Given the description of an element on the screen output the (x, y) to click on. 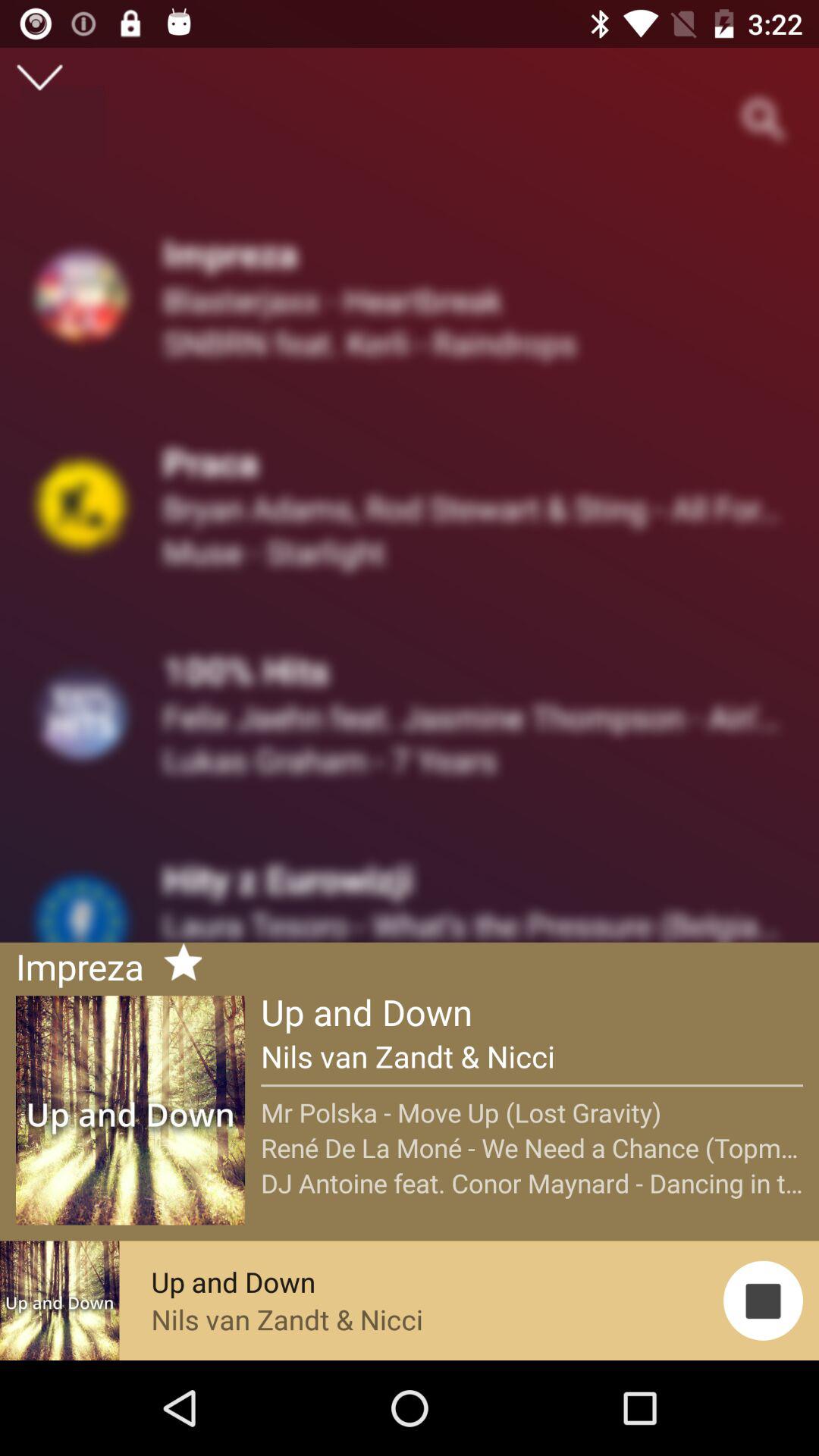
launch item next to up and down (176, 964)
